Given the description of an element on the screen output the (x, y) to click on. 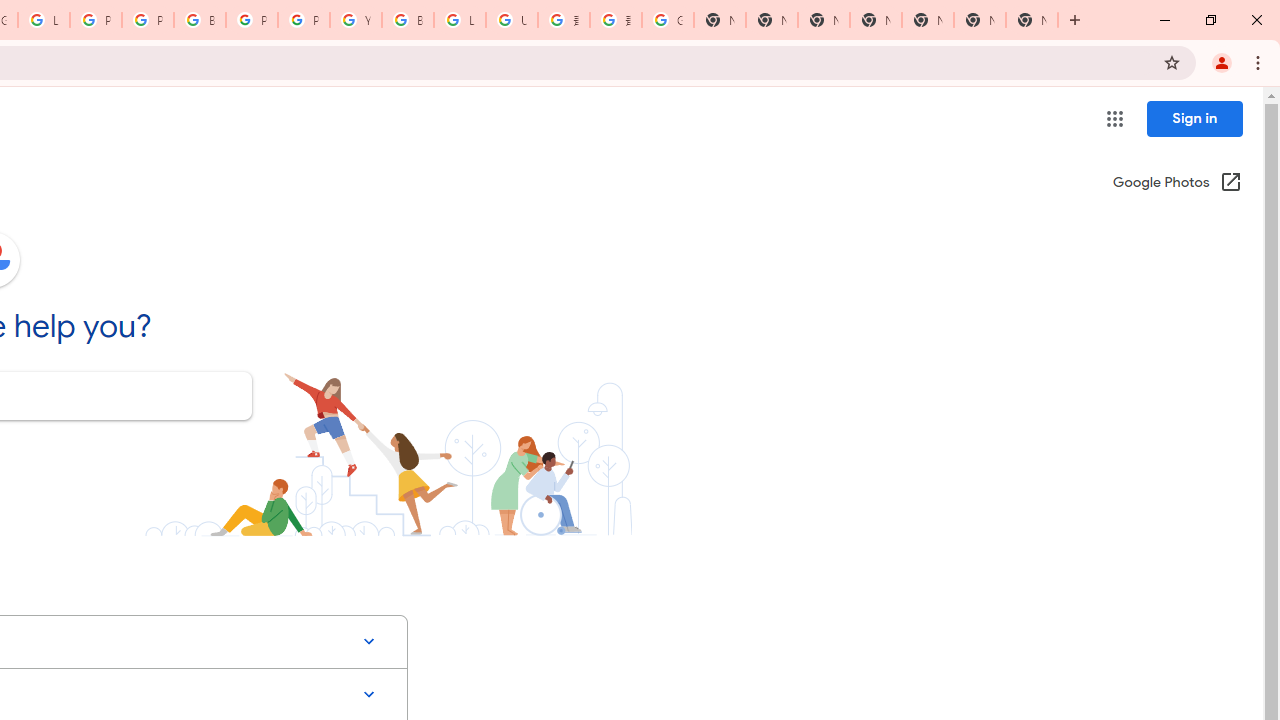
Google Images (667, 20)
Google Photos (Open in a new window) (1177, 183)
